Given the description of an element on the screen output the (x, y) to click on. 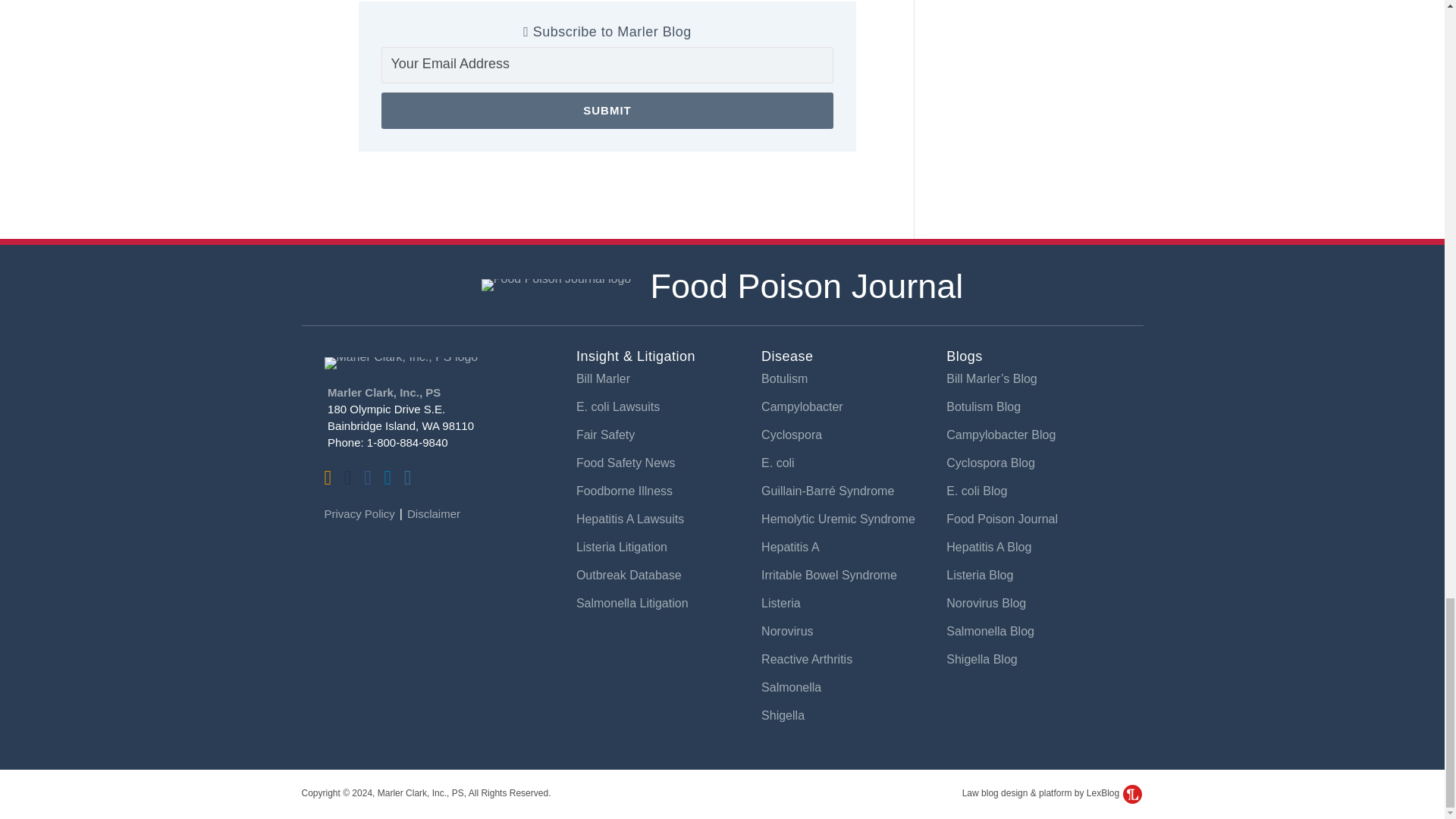
Submit (606, 110)
LexBlog Logo (1131, 793)
Submit (606, 110)
